Given the description of an element on the screen output the (x, y) to click on. 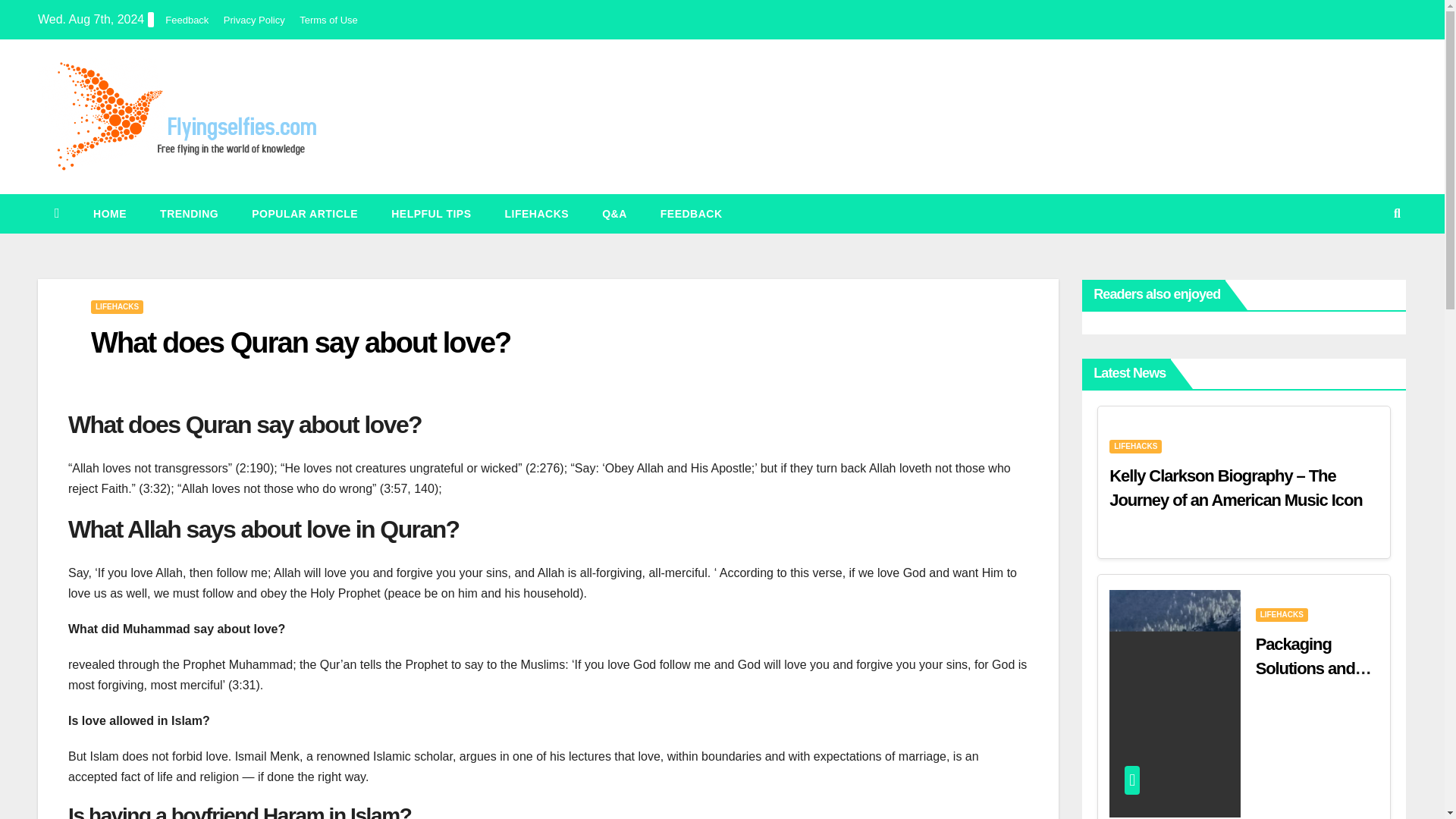
Permalink to: What does Quran say about love? (300, 342)
What does Quran say about love? (300, 342)
Terms of Use (328, 19)
Trending (188, 213)
TRENDING (188, 213)
Popular article (304, 213)
Privacy Policy (254, 19)
HELPFUL TIPS (430, 213)
LIFEHACKS (536, 213)
Helpful tips (430, 213)
FEEDBACK (691, 213)
Feedback (691, 213)
Home (109, 213)
Lifehacks (536, 213)
HOME (109, 213)
